Given the description of an element on the screen output the (x, y) to click on. 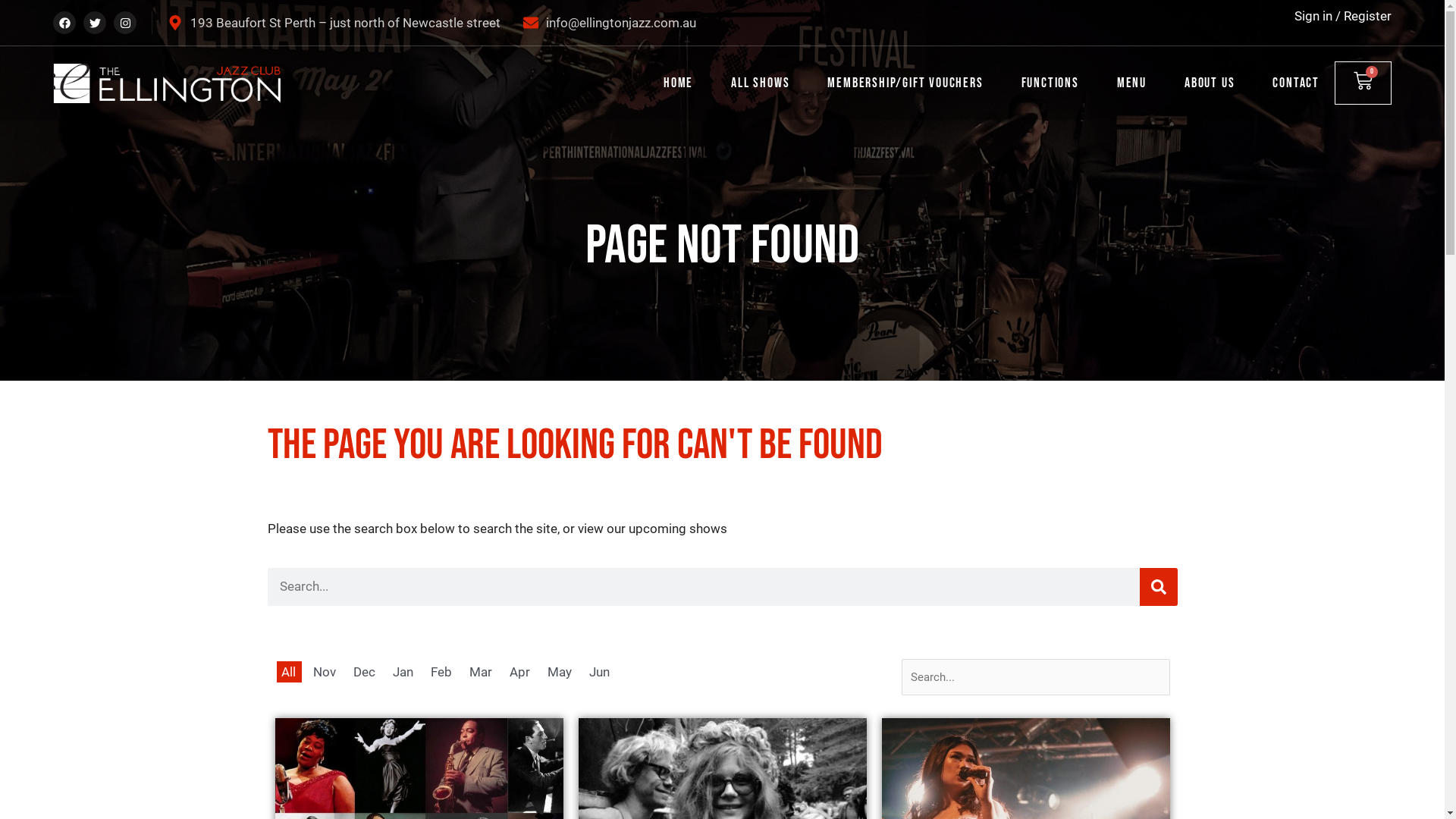
MEMBERSHIP/GIFT VOUCHERS Element type: text (904, 82)
Instagram Element type: text (124, 22)
Facebook Element type: text (64, 22)
ALL SHOWS Element type: text (760, 82)
FUNCTIONS Element type: text (1050, 82)
CONTACT Element type: text (1295, 82)
Sign in Element type: text (1313, 15)
MENU Element type: text (1131, 82)
0
CART Element type: text (1362, 82)
Register Element type: text (1367, 15)
HOME Element type: text (678, 82)
SEARCH Element type: text (1157, 586)
ABOUT US Element type: text (1209, 82)
Twitter Element type: text (94, 22)
info@ellingtonjazz.com.au Element type: text (609, 22)
